Given the description of an element on the screen output the (x, y) to click on. 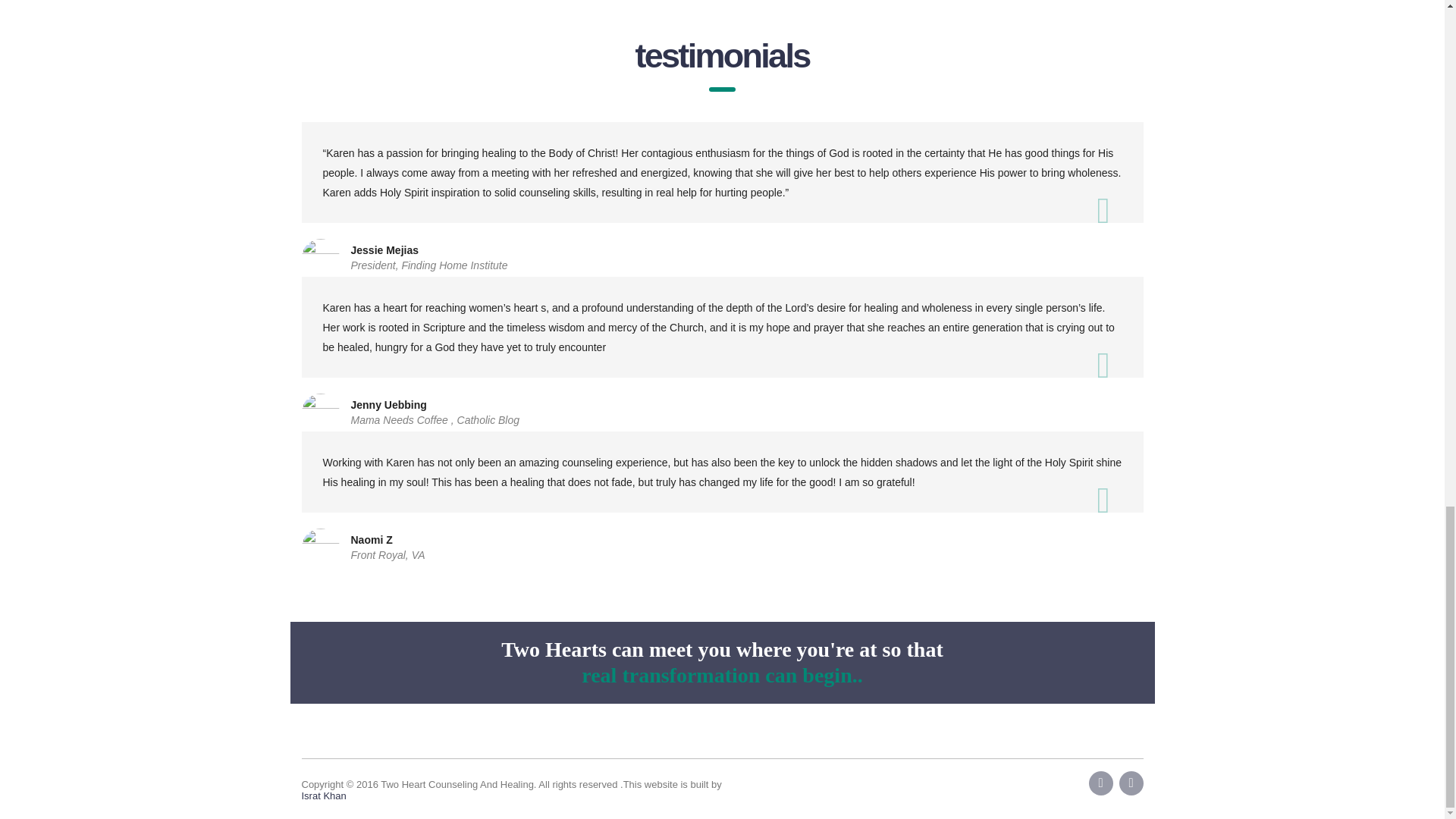
Israt Khan (323, 795)
